Given the description of an element on the screen output the (x, y) to click on. 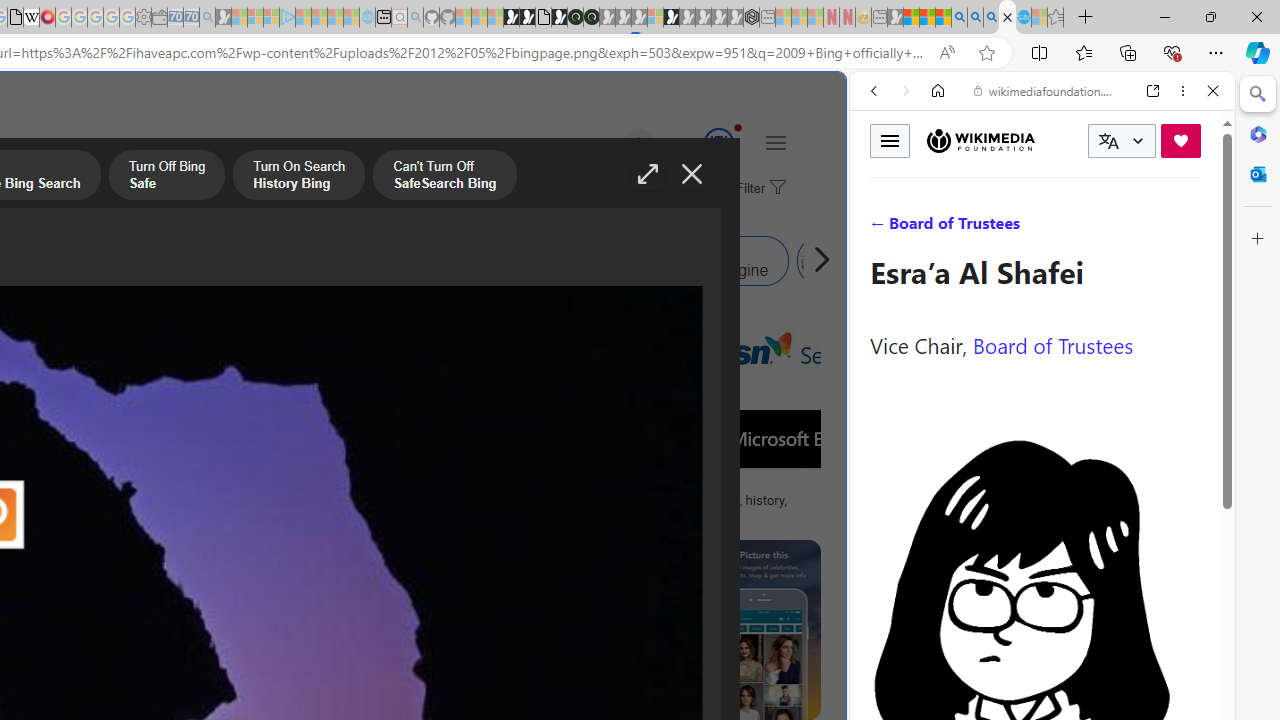
Play Zoo Boom in your browser | Games from Microsoft Start (527, 17)
Turn Off Bing Safe (166, 177)
Bing Image Search Similar Images (292, 260)
MSN - Sleeping (895, 17)
Bing Image Search Similar Images (416, 260)
Settings - Sleeping (143, 17)
